Given the description of an element on the screen output the (x, y) to click on. 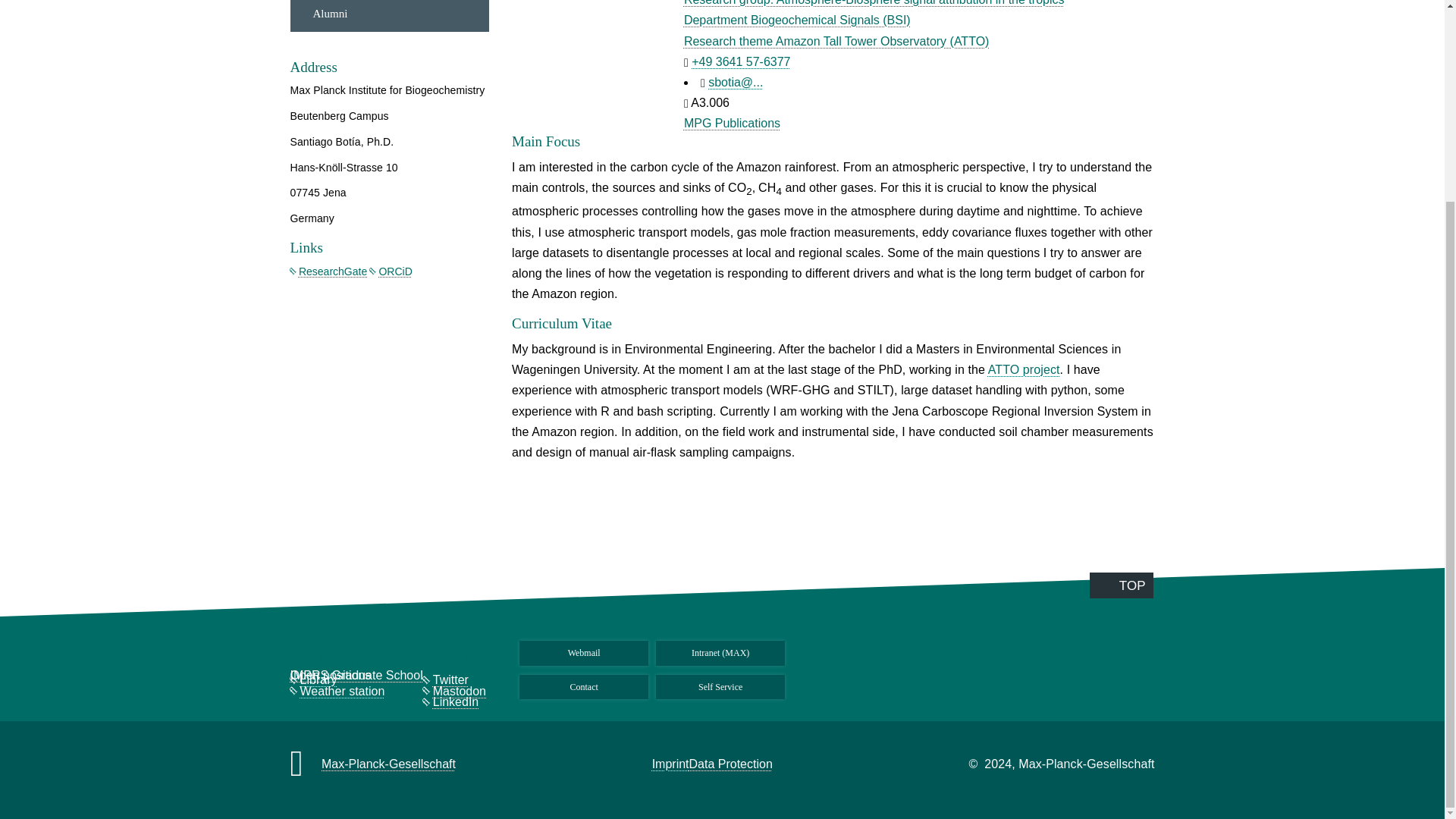
Reddit (1177, 3)
ATTO project (1023, 369)
Twitter (1177, 29)
Print (1177, 132)
Xing (1177, 64)
E-Mail (1177, 97)
MPG Publications (732, 123)
